Given the description of an element on the screen output the (x, y) to click on. 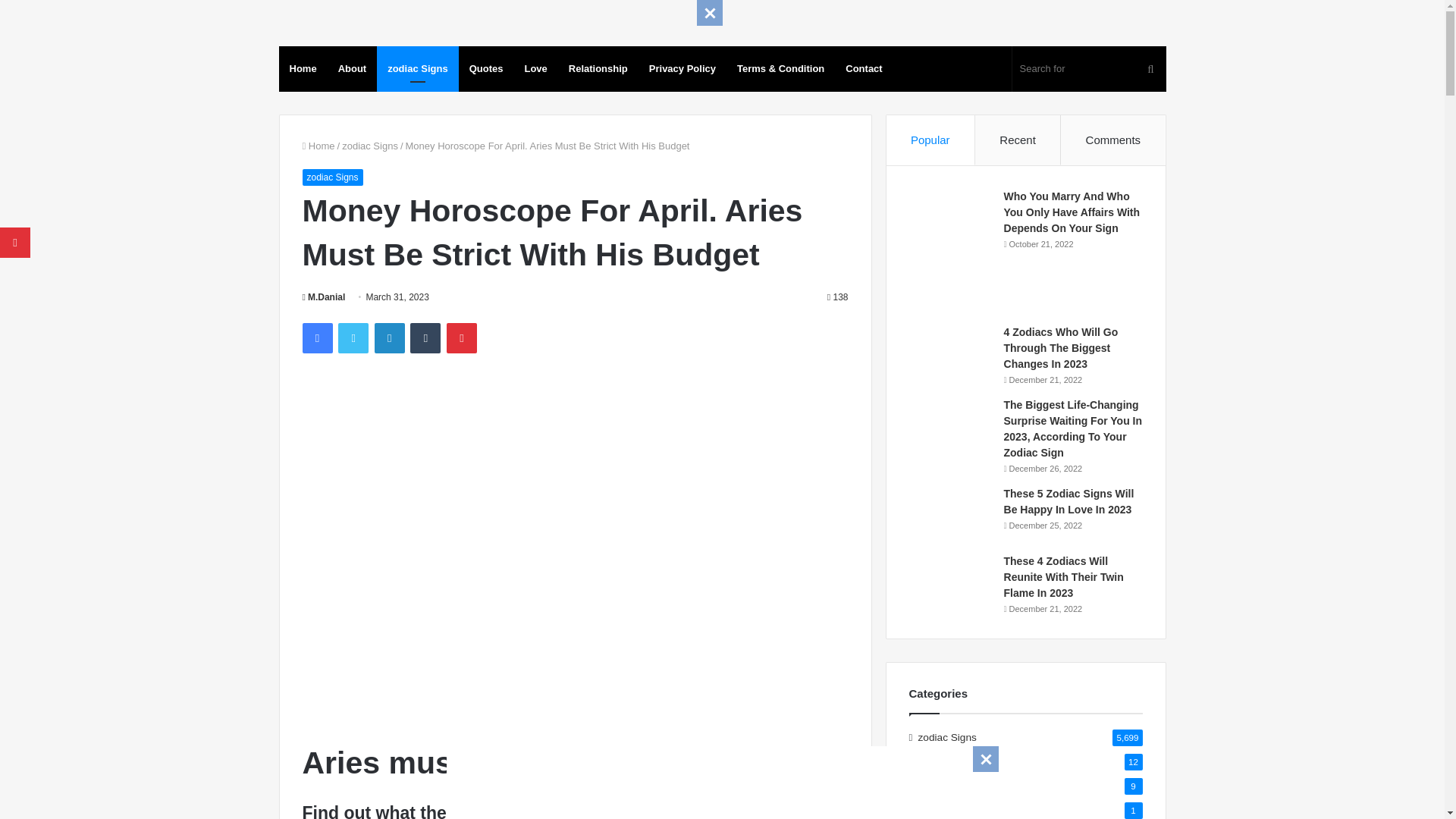
About (352, 68)
Relationship (598, 68)
Pinterest (461, 337)
zodiac Signs (417, 68)
LinkedIn (389, 337)
Contact (863, 68)
Pinterest (461, 337)
Twitter (352, 337)
Tumblr (425, 337)
zodiac Signs (331, 176)
